Given the description of an element on the screen output the (x, y) to click on. 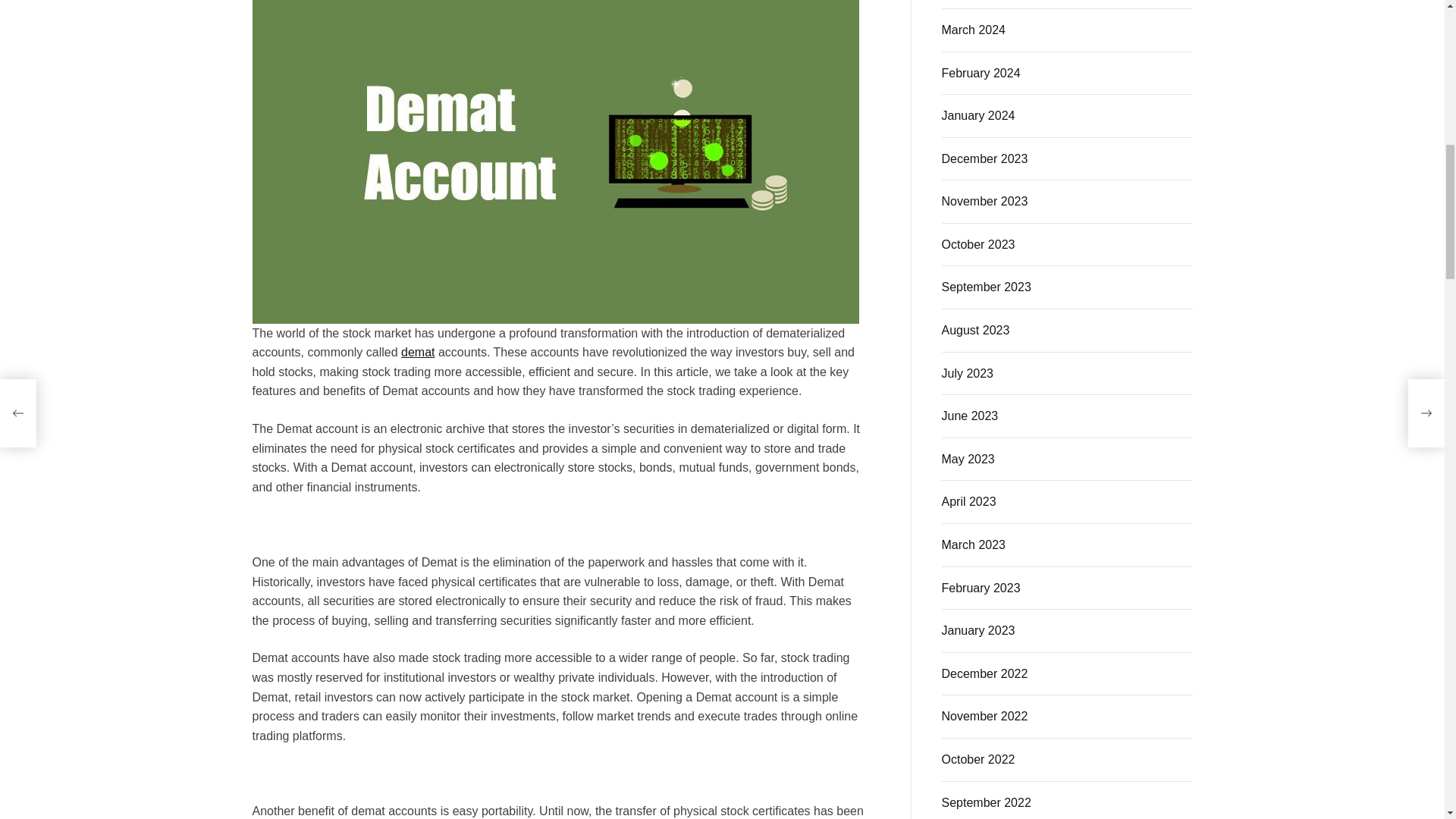
demat (417, 351)
